Given the description of an element on the screen output the (x, y) to click on. 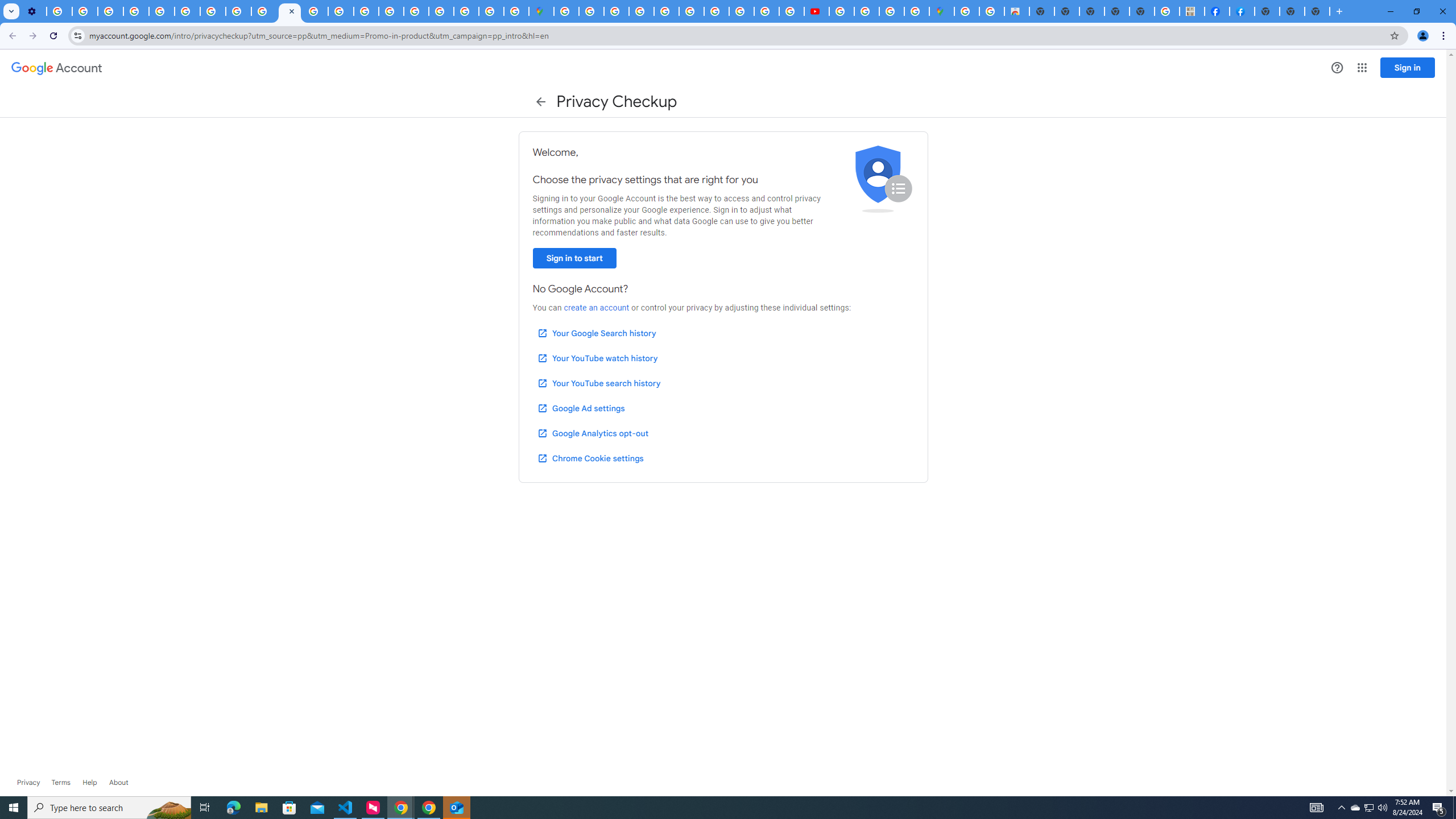
https://scholar.google.com/ (315, 11)
Privacy Help Center - Policies Help (740, 11)
Google Maps (541, 11)
Delete photos & videos - Computer - Google Photos Help (59, 11)
Blogger Policies and Guidelines - Transparency Center (715, 11)
Sign in - Google Accounts (590, 11)
Privacy Help Center - Policies Help (161, 11)
Google Account settings (56, 68)
